Given the description of an element on the screen output the (x, y) to click on. 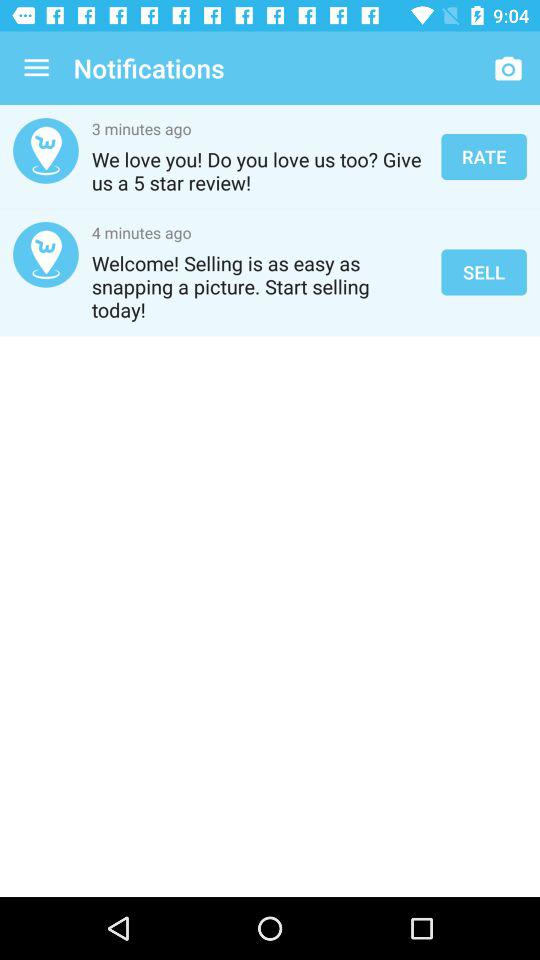
choose item below 4 minutes ago icon (259, 286)
